Given the description of an element on the screen output the (x, y) to click on. 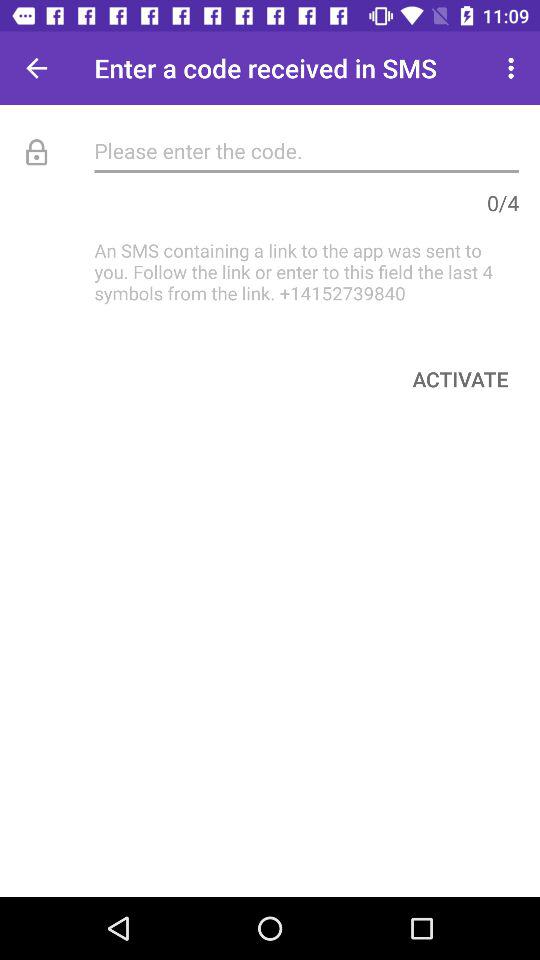
tap the item at the top right corner (513, 67)
